Given the description of an element on the screen output the (x, y) to click on. 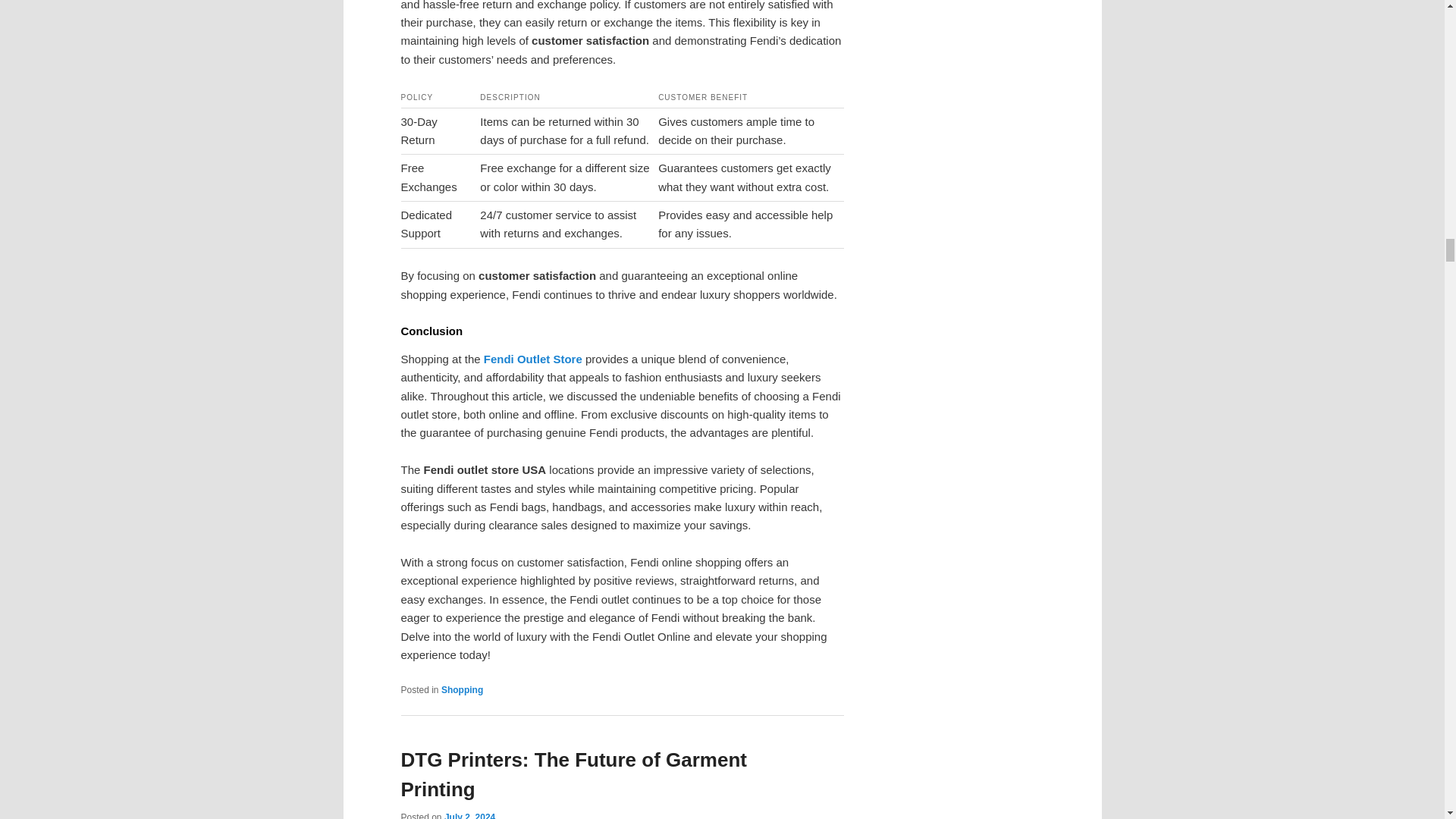
Shopping (462, 689)
DTG Printers: The Future of Garment Printing (573, 774)
Fendi Outlet Store (532, 358)
8:17 am (469, 815)
July 2, 2024 (469, 815)
